Given the description of an element on the screen output the (x, y) to click on. 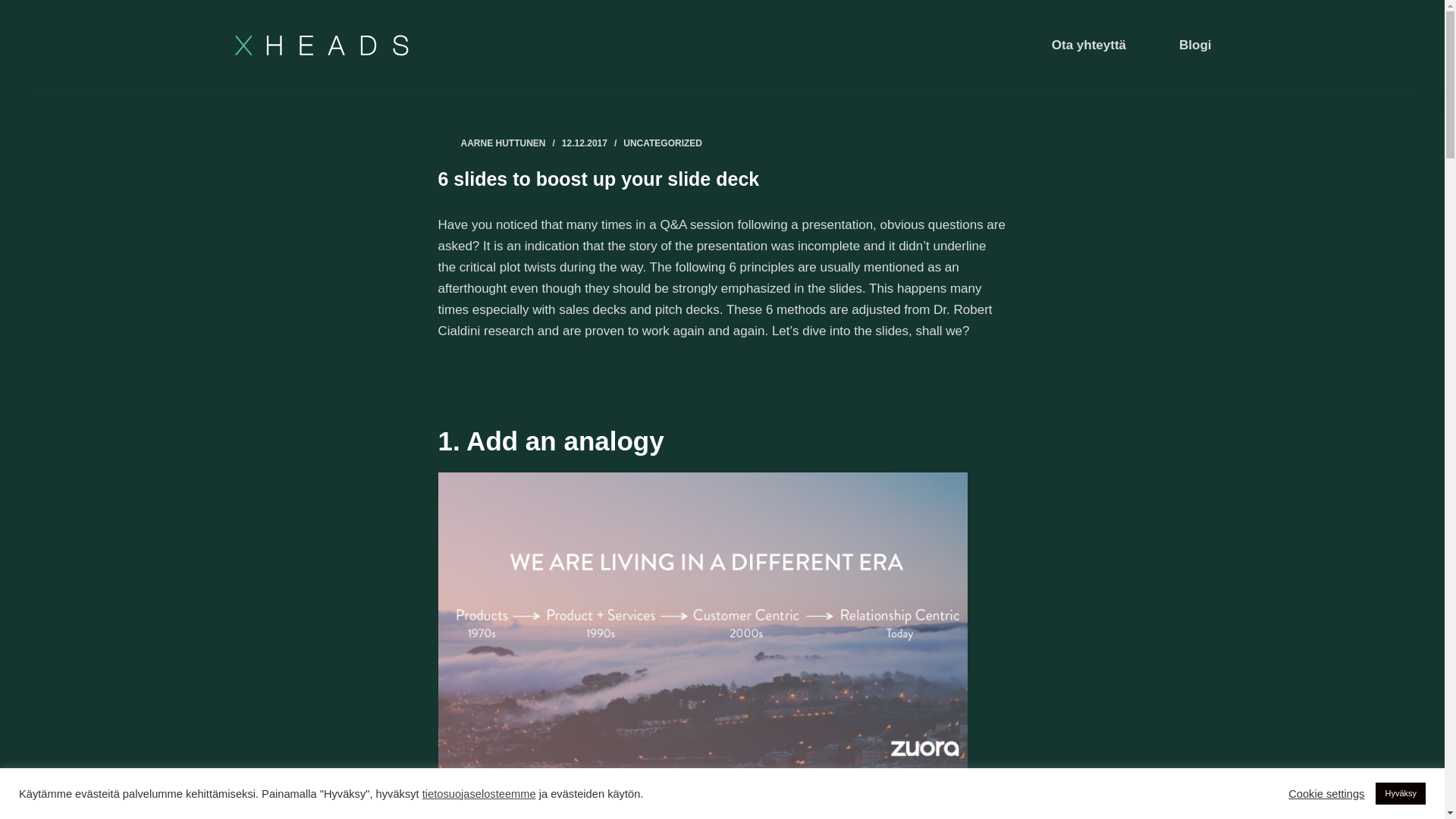
Posts by Aarne Huttunen (503, 143)
Skip to content (15, 7)
Cookie settings (1326, 793)
tietosuojaselosteemme (478, 793)
AARNE HUTTUNEN (503, 143)
UNCATEGORIZED (662, 143)
